Given the description of an element on the screen output the (x, y) to click on. 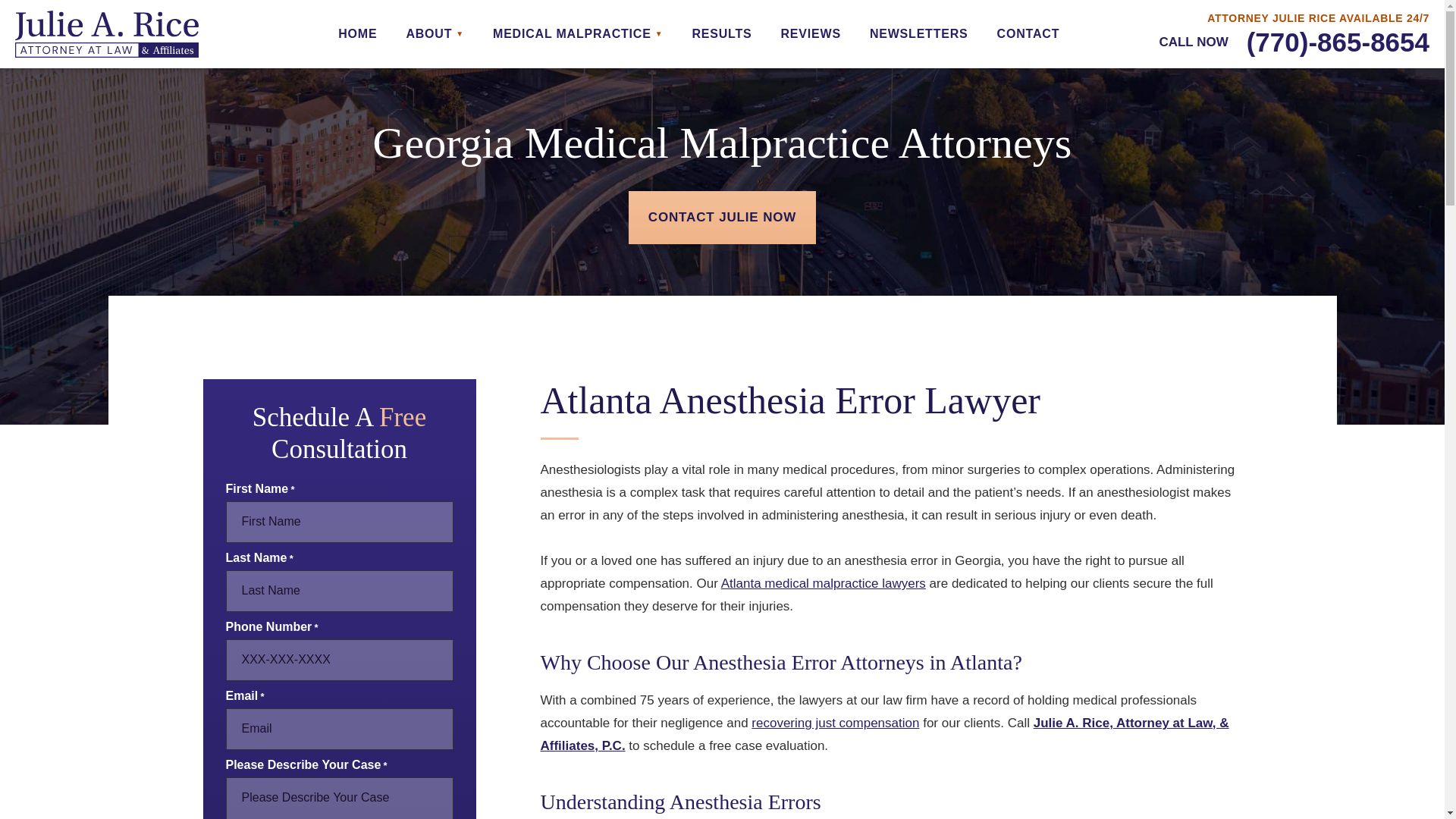
Atlanta medical malpractice lawyers (823, 583)
ABOUT (435, 33)
HOME (357, 33)
recovering just compensation (834, 722)
CONTACT JULIE NOW (721, 217)
RESULTS (721, 33)
NEWSLETTERS (918, 33)
MEDICAL MALPRACTICE (577, 33)
CONTACT (1028, 33)
REVIEWS (810, 33)
